Given the description of an element on the screen output the (x, y) to click on. 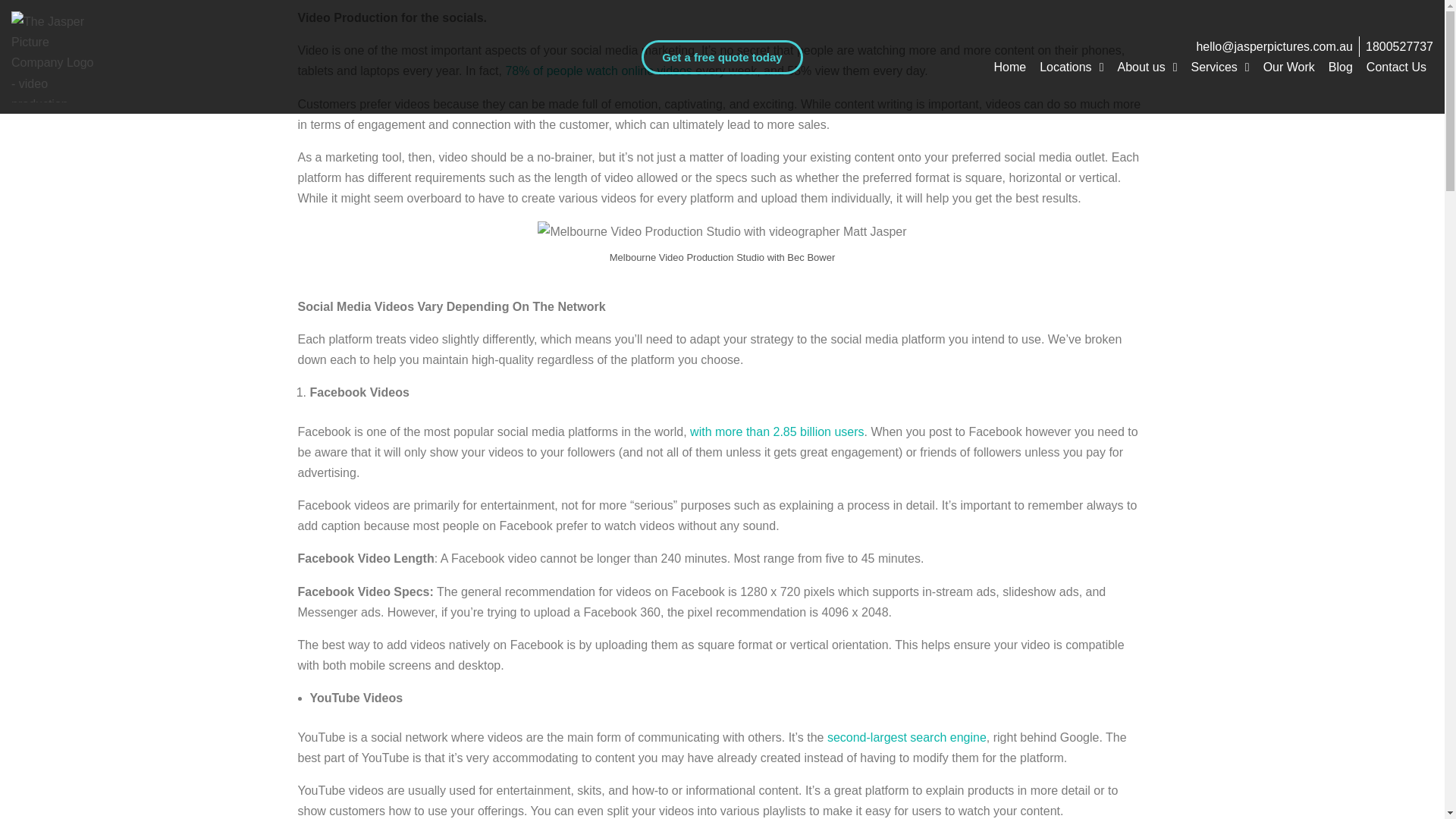
1800527737 (1398, 46)
About us (1146, 66)
Home (1009, 66)
Locations (1070, 66)
Get a free quote today (722, 57)
